Given the description of an element on the screen output the (x, y) to click on. 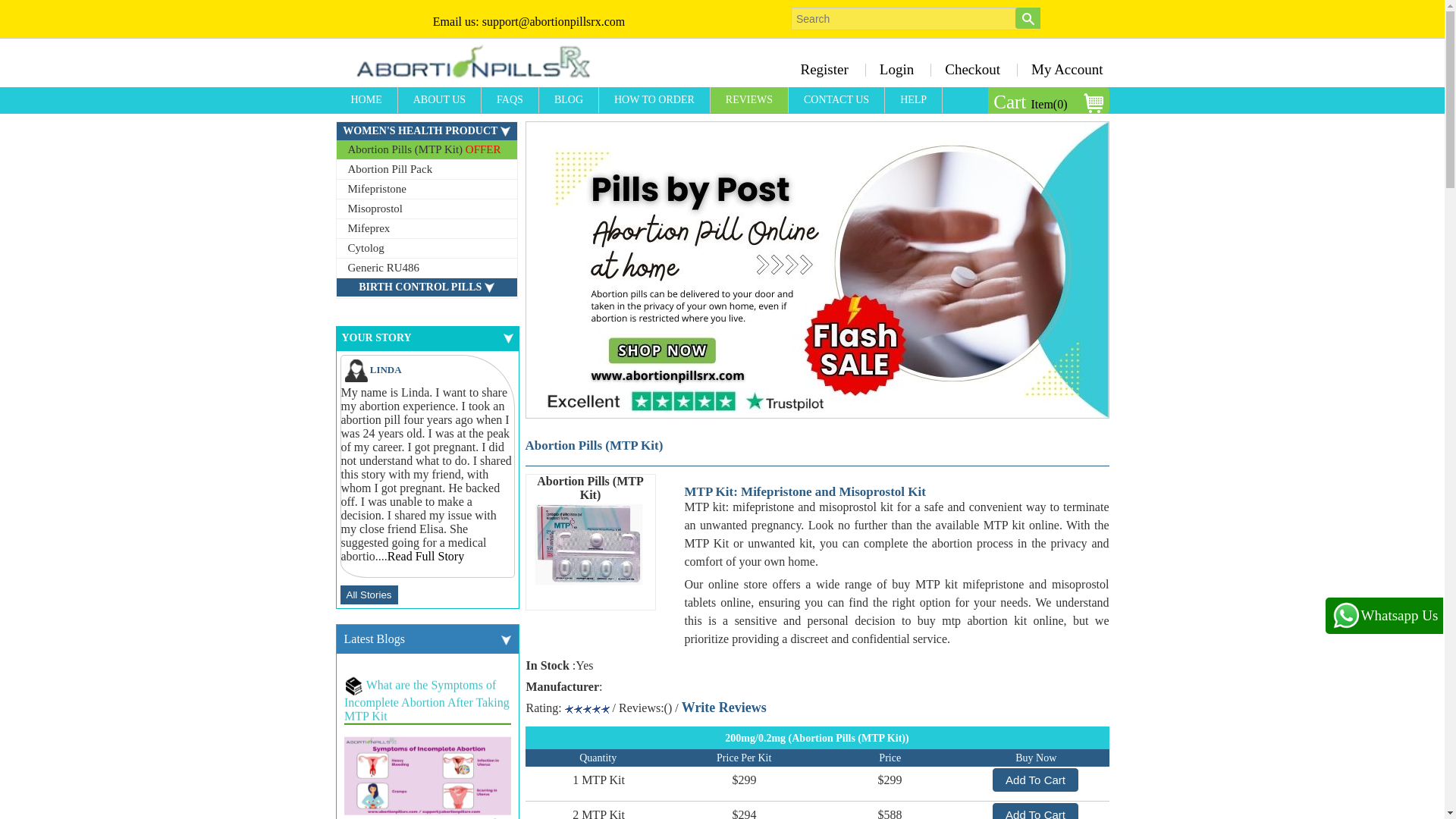
Checkout (972, 68)
CONTACT US (837, 99)
All Stories (368, 594)
My Account (1062, 68)
Generic RU486 (426, 268)
Misoprostol (426, 209)
Login (896, 68)
Mifeprex (426, 229)
HOW TO ORDER (654, 99)
REVIEWS (749, 99)
ABOUT US (439, 99)
Mifepristone (426, 189)
Cytolog (426, 248)
Abortion Pill Pack (426, 169)
